Given the description of an element on the screen output the (x, y) to click on. 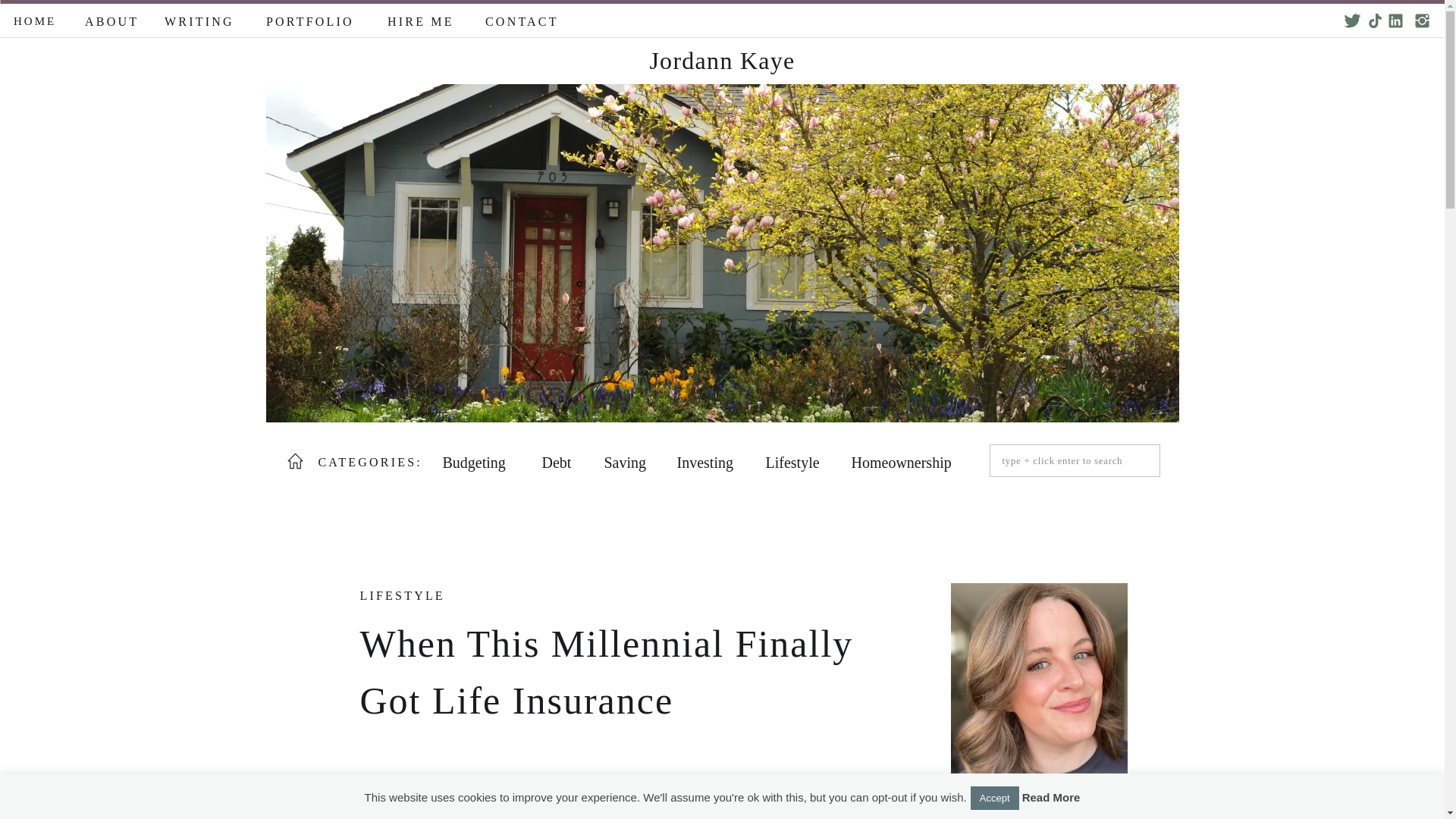
HIRE ME (422, 18)
Debt (558, 461)
Lifestyle (794, 461)
Jordann Kaye (722, 60)
WRITING (200, 18)
Homeownership (905, 461)
Investing (707, 461)
Saving (626, 461)
HOME (34, 18)
CONTACT (521, 18)
PORTFOLIO (312, 18)
ABOUT (110, 18)
Budgeting (478, 461)
